Given the description of an element on the screen output the (x, y) to click on. 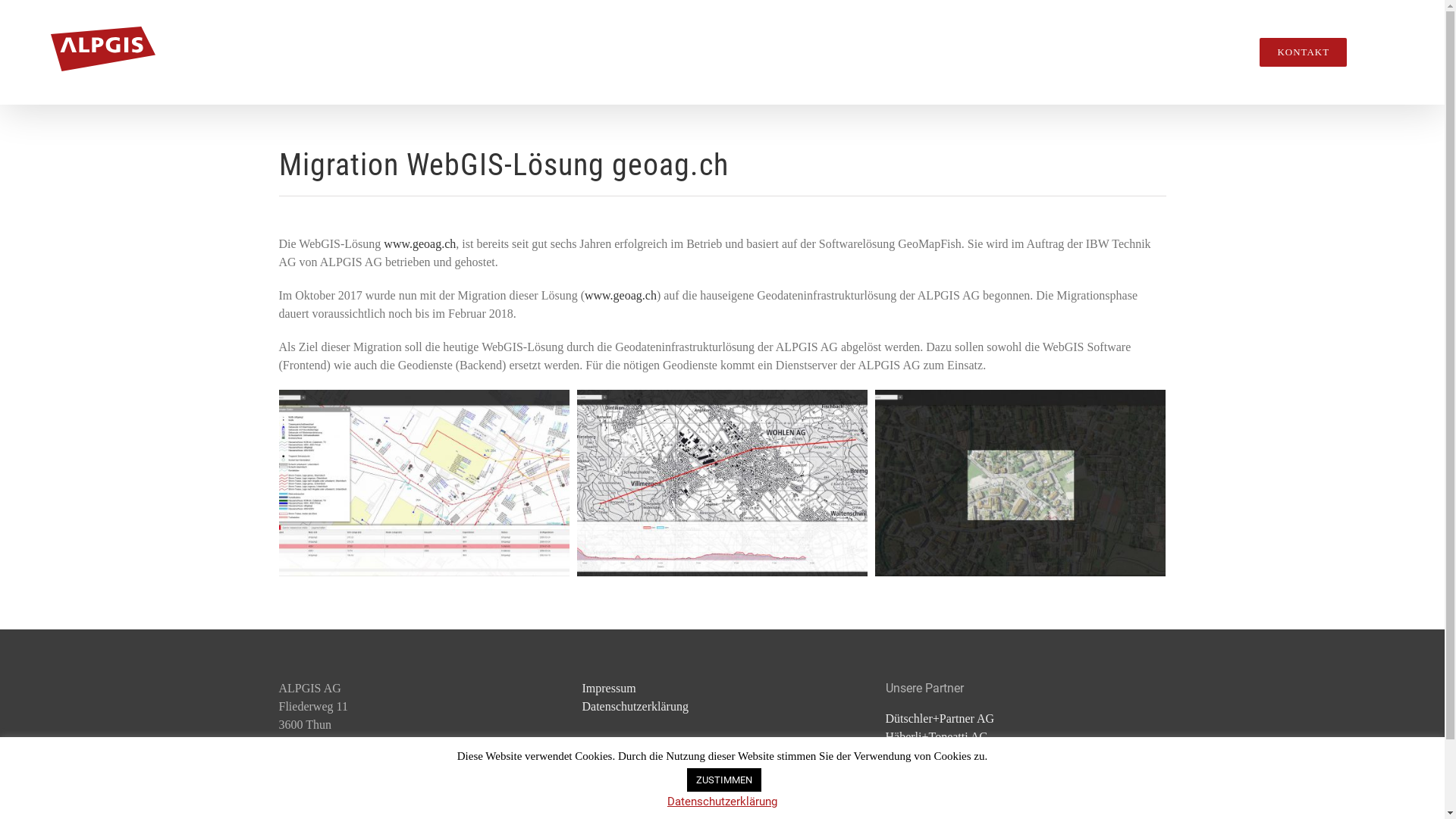
Impressum Element type: text (609, 687)
DIGICASA AG Element type: text (924, 790)
GeoAG_Elektro_bearb Element type: hover (424, 482)
GeoAG_Drucken Element type: hover (1020, 482)
GeoAG_Hoehenprofil Element type: hover (721, 482)
Gerber AG Element type: text (912, 754)
KONTAKT Element type: text (1302, 51)
ZUSTIMMEN Element type: text (724, 779)
www.geoag.ch Element type: text (419, 243)
info@alpgis.ch Element type: text (316, 772)
www.geoag.ch Element type: text (620, 294)
